Given the description of an element on the screen output the (x, y) to click on. 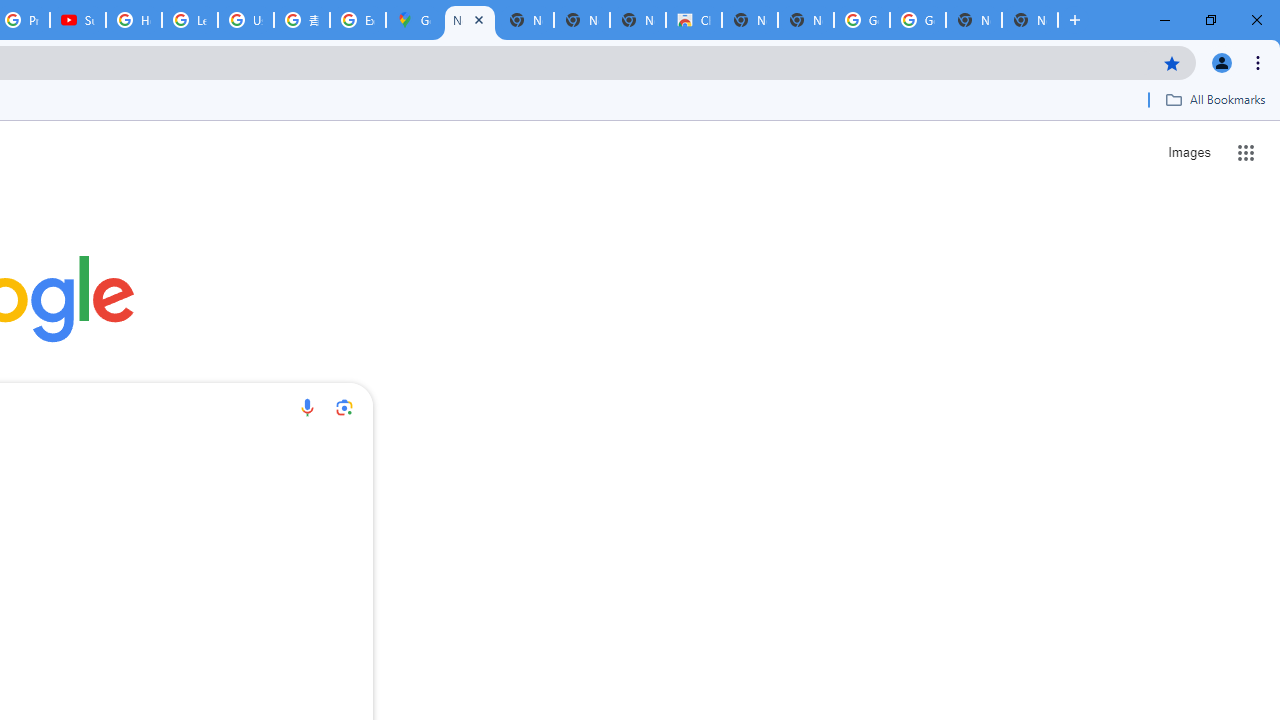
Search by image (344, 407)
Search by voice (307, 407)
Subscriptions - YouTube (77, 20)
Google Maps (413, 20)
Search for Images  (1188, 152)
Explore new street-level details - Google Maps Help (358, 20)
Chrome Web Store (693, 20)
New Tab (1030, 20)
Google Images (917, 20)
